Given the description of an element on the screen output the (x, y) to click on. 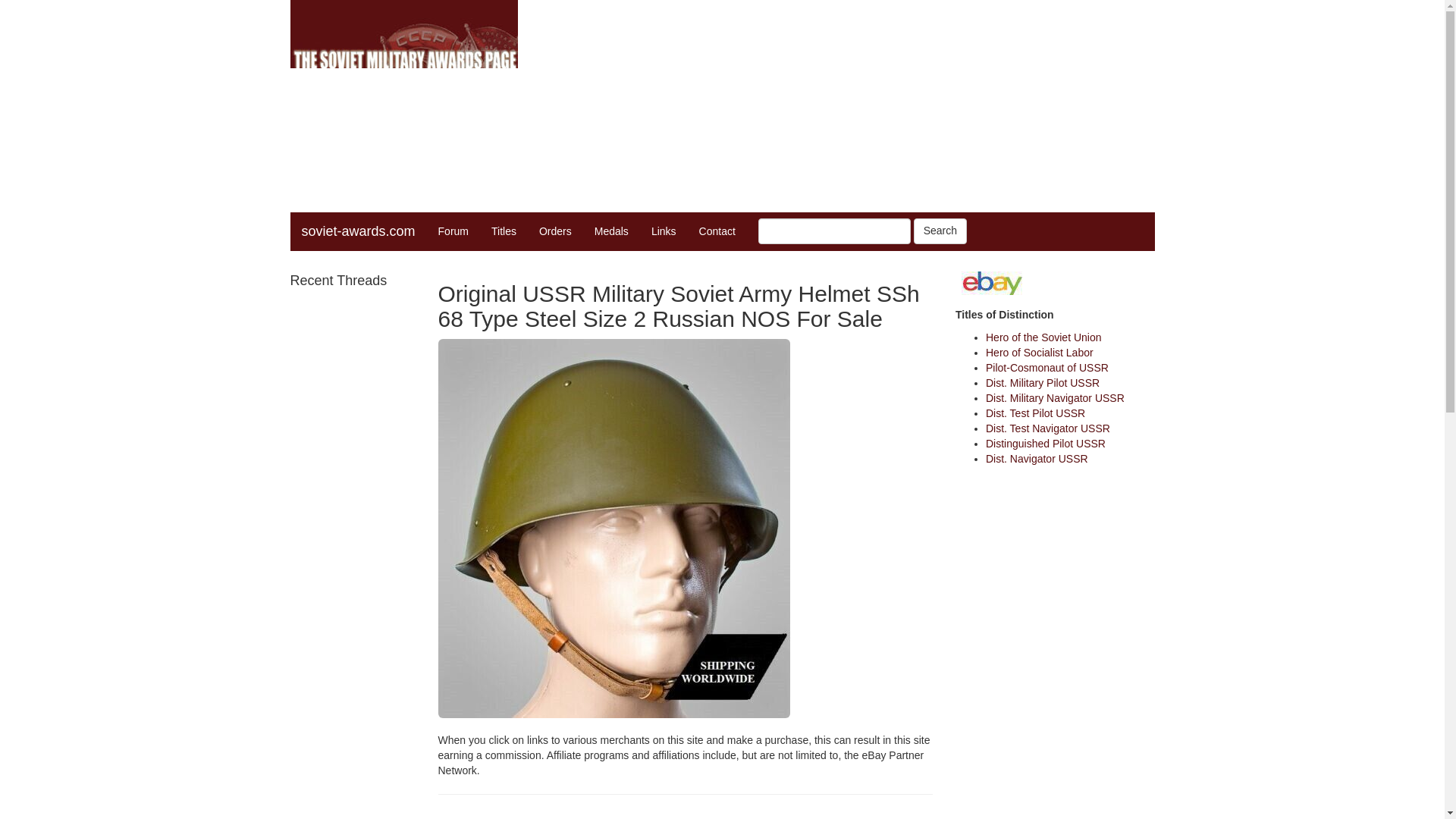
Pilot-Cosmonaut of USSR (1046, 367)
Dist. Test Navigator USSR (1047, 428)
Dist. Navigator USSR (1036, 458)
Orders (555, 231)
soviet-awards.com (357, 231)
Dist. Test Pilot USSR (1034, 413)
Advertisement (685, 814)
Hero of the Soviet Union (1043, 337)
Hero of Socialist Labor (1039, 352)
Distinguished Pilot USSR (1045, 443)
